Given the description of an element on the screen output the (x, y) to click on. 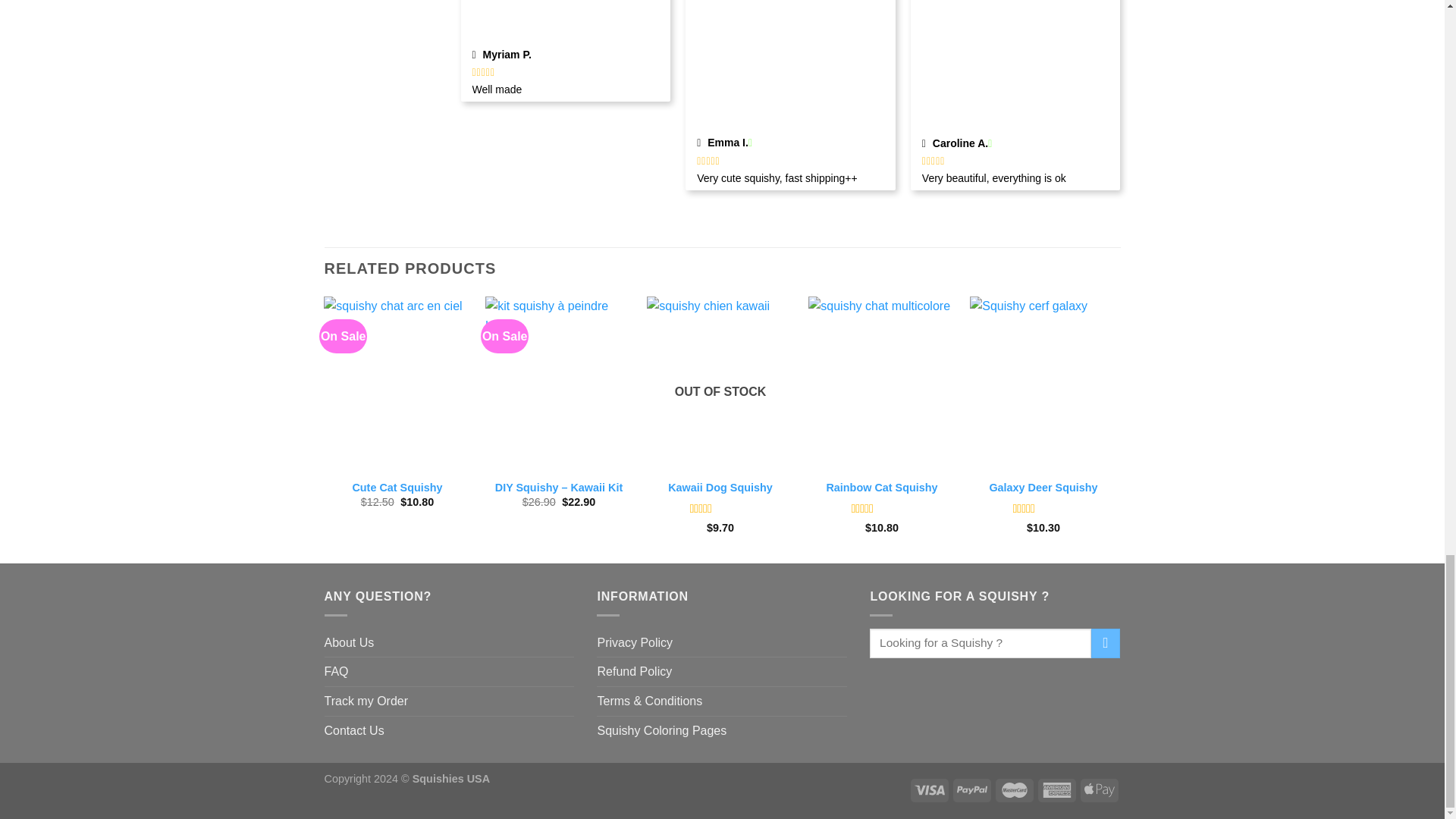
Click to view full screen (790, 65)
Click to view full screen (566, 21)
